Given the description of an element on the screen output the (x, y) to click on. 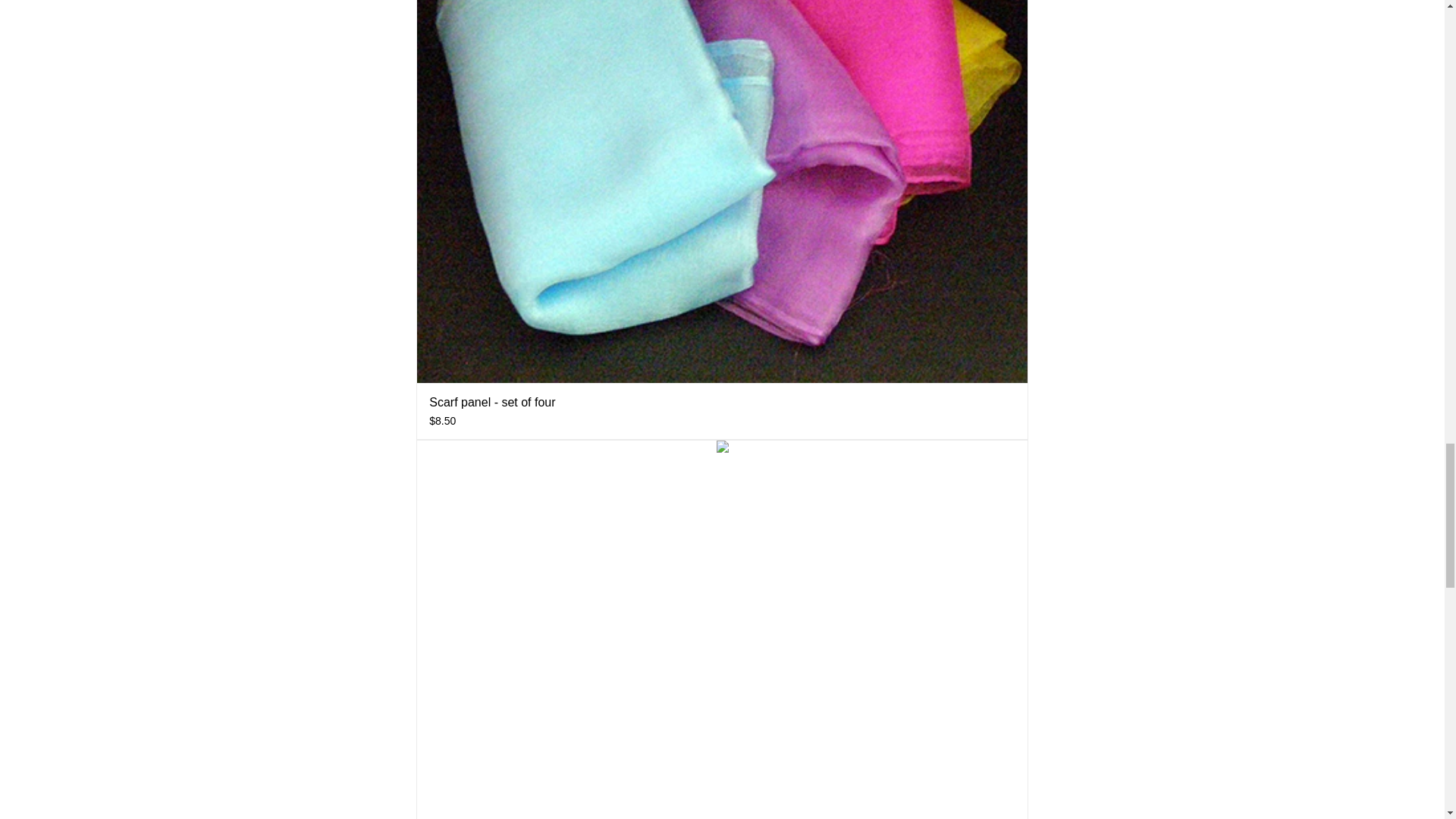
Scarf panel - set of four (491, 401)
